Given the description of an element on the screen output the (x, y) to click on. 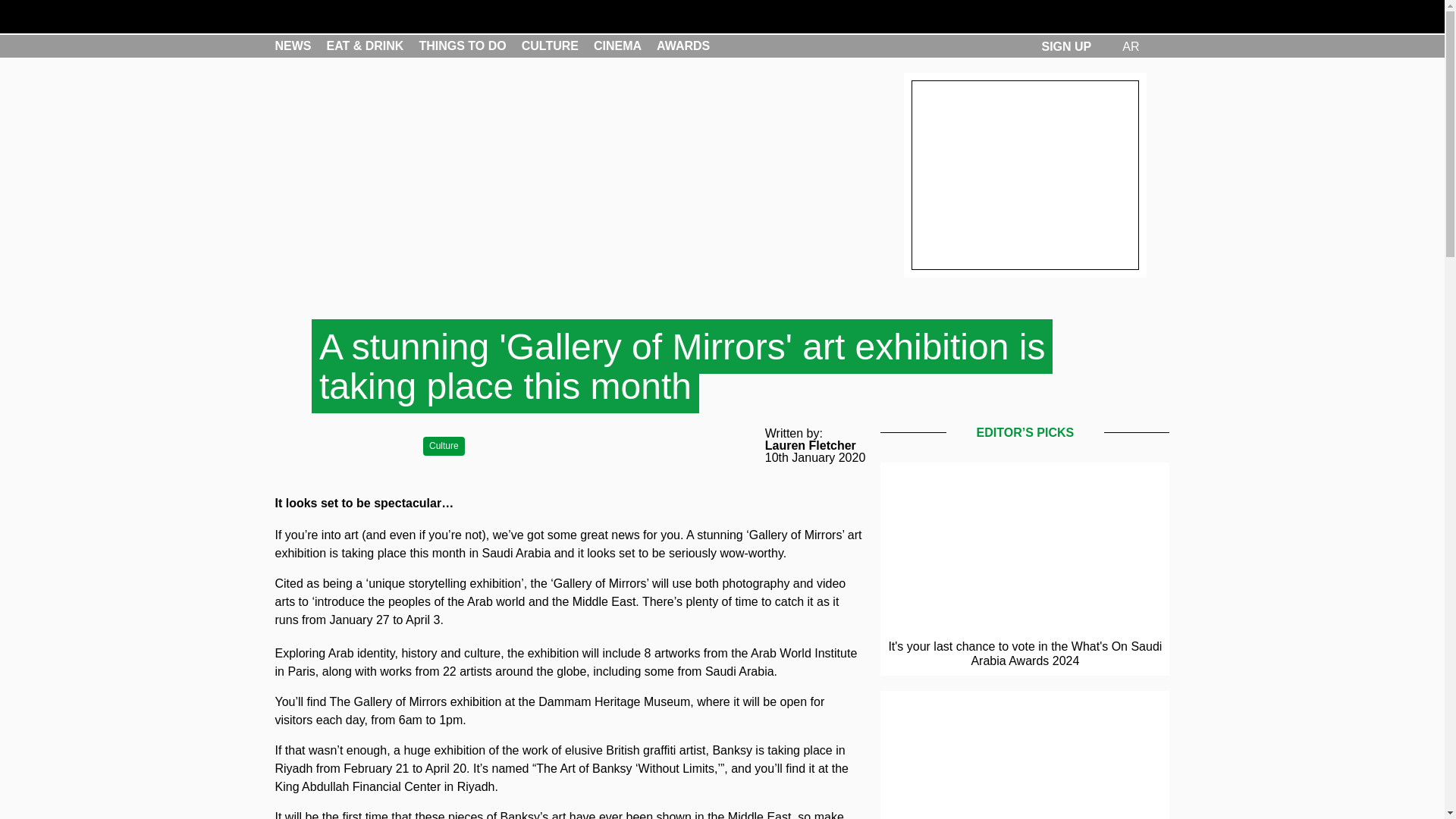
CULTURE (549, 45)
CINEMA (618, 45)
NEWS (293, 45)
SIGN UP (1065, 45)
THINGS TO DO (462, 45)
AWARDS (683, 45)
